Given the description of an element on the screen output the (x, y) to click on. 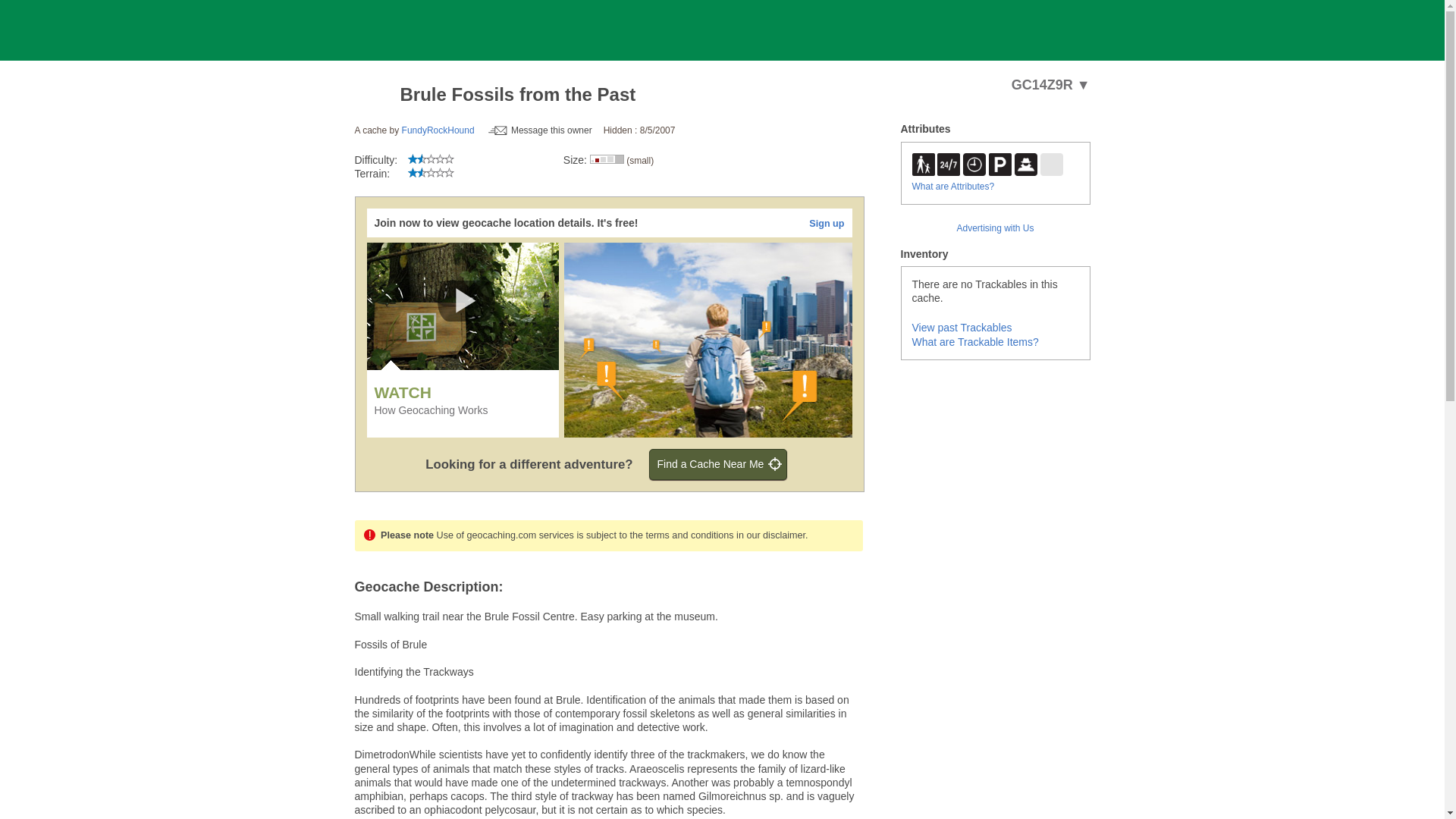
What are Trackable Items? (974, 341)
Find a Cache Near Me (718, 463)
in our disclaimer (770, 534)
Advertising with Us (994, 227)
What are Attributes? (952, 185)
blank (1051, 164)
Sign up (826, 223)
Parking nearby (999, 164)
Traditional Cache (373, 94)
What are Trackable Items? (974, 341)
Find a Cache Near Me (718, 463)
Sign up (826, 223)
What are Attributes? (952, 185)
Takes less than one hour (973, 164)
Recommended for kids (922, 164)
